Given the description of an element on the screen output the (x, y) to click on. 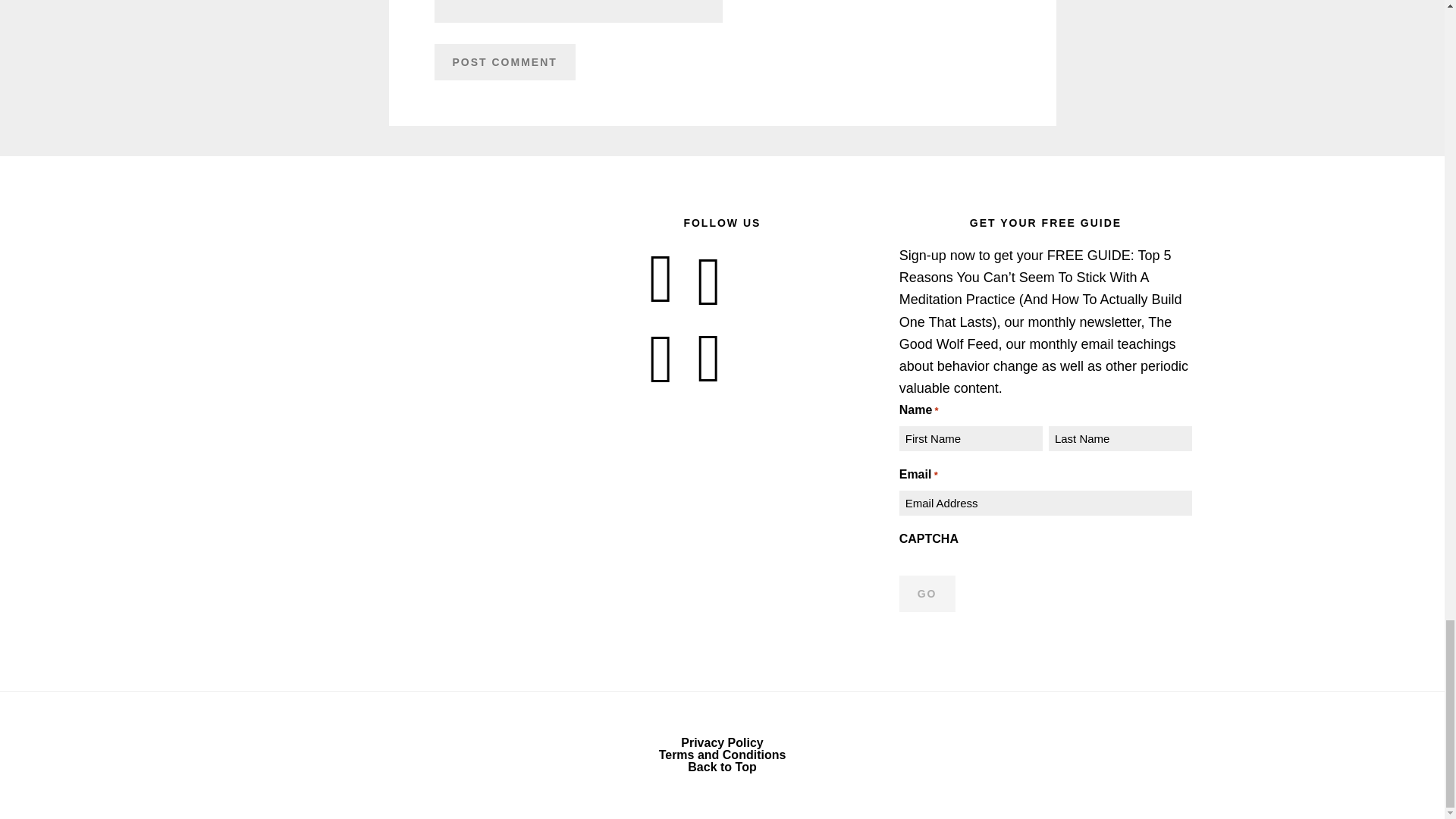
Post Comment (504, 62)
GO (927, 593)
